Given the description of an element on the screen output the (x, y) to click on. 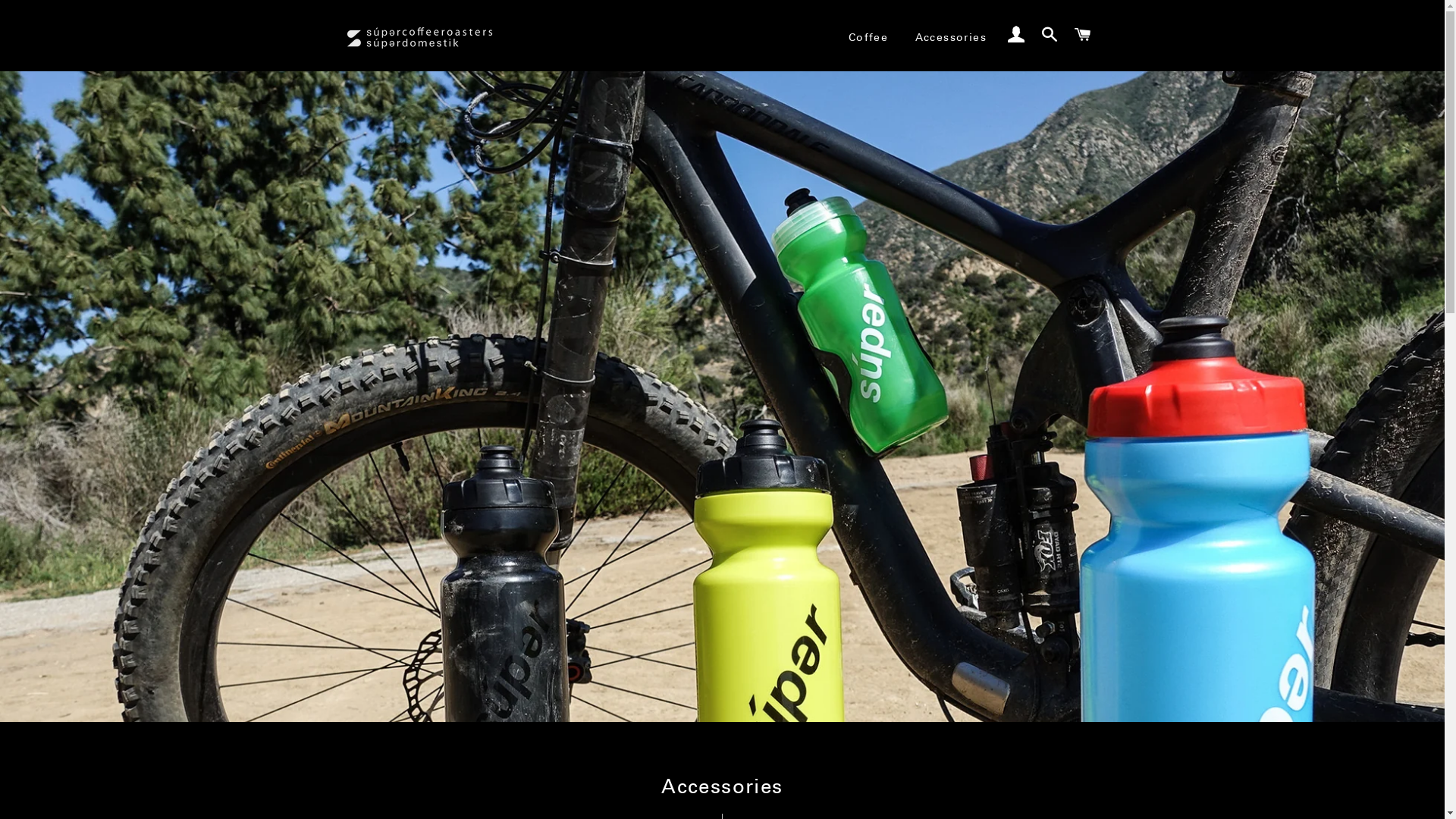
Cart Element type: text (1082, 35)
Coffee Element type: text (868, 37)
Search Element type: text (1049, 35)
Log In Element type: text (1015, 35)
Accessories Element type: text (950, 37)
